Given the description of an element on the screen output the (x, y) to click on. 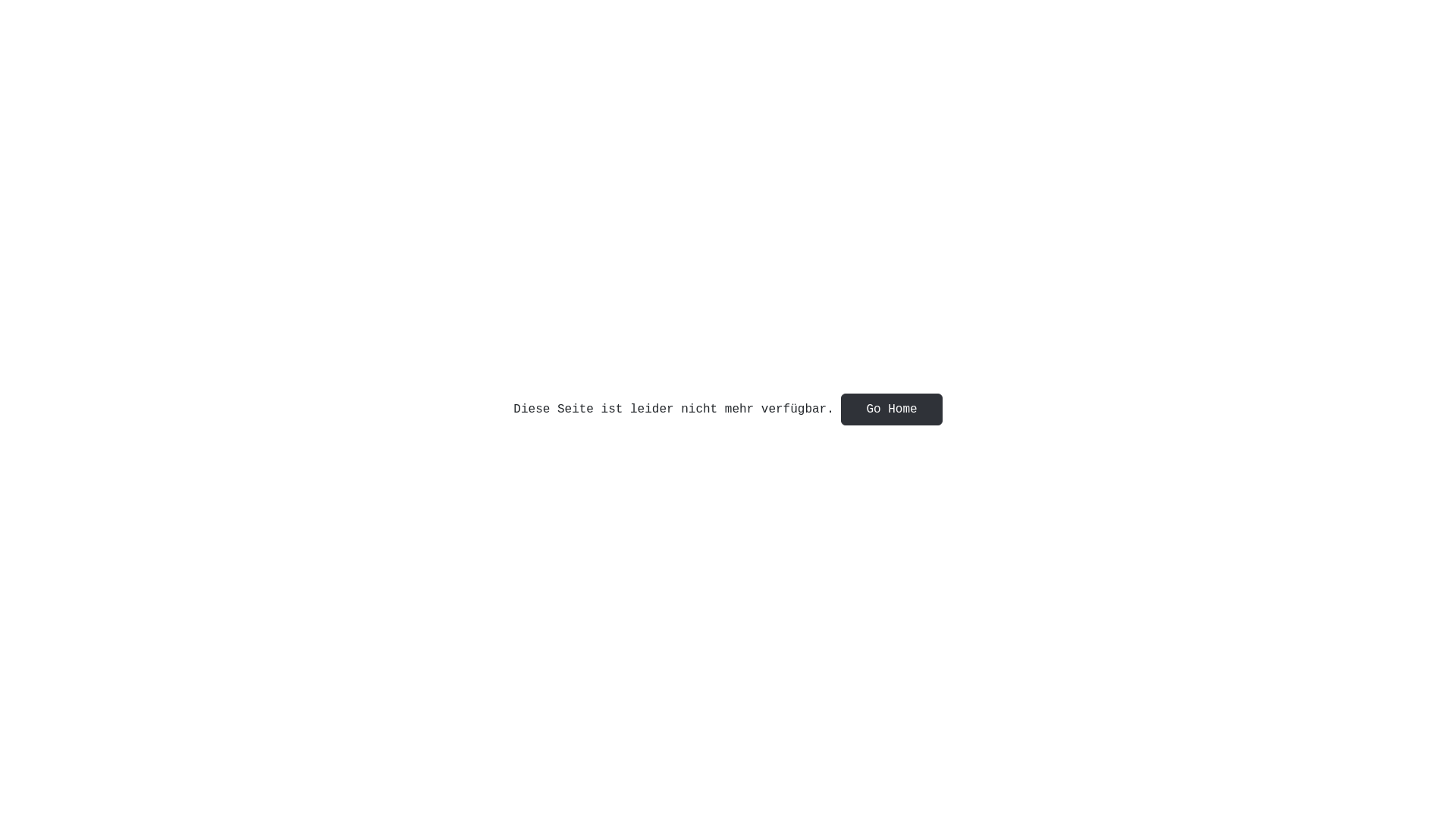
Go Home Element type: text (890, 409)
